Given the description of an element on the screen output the (x, y) to click on. 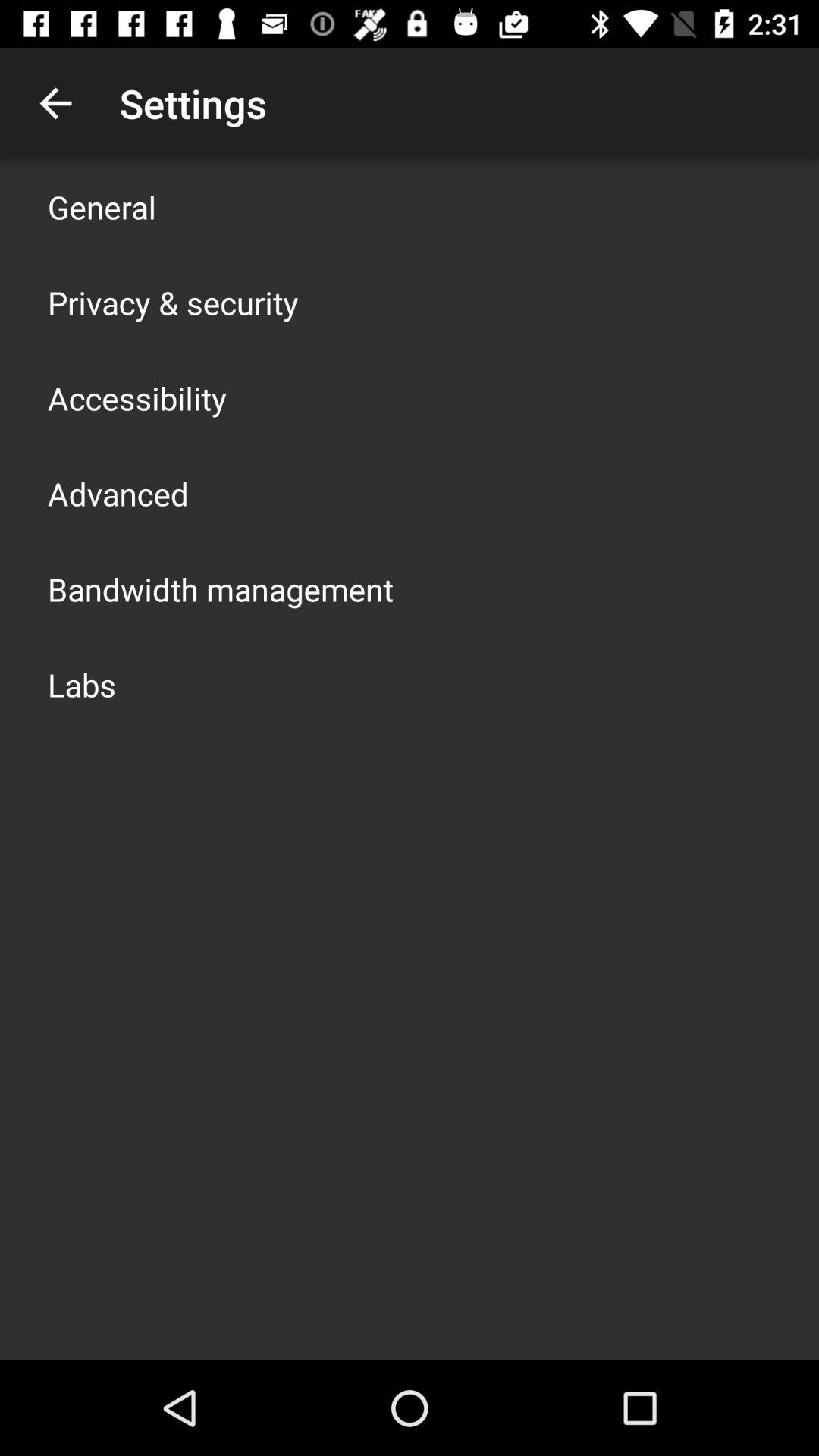
turn on the app above the general icon (55, 103)
